Given the description of an element on the screen output the (x, y) to click on. 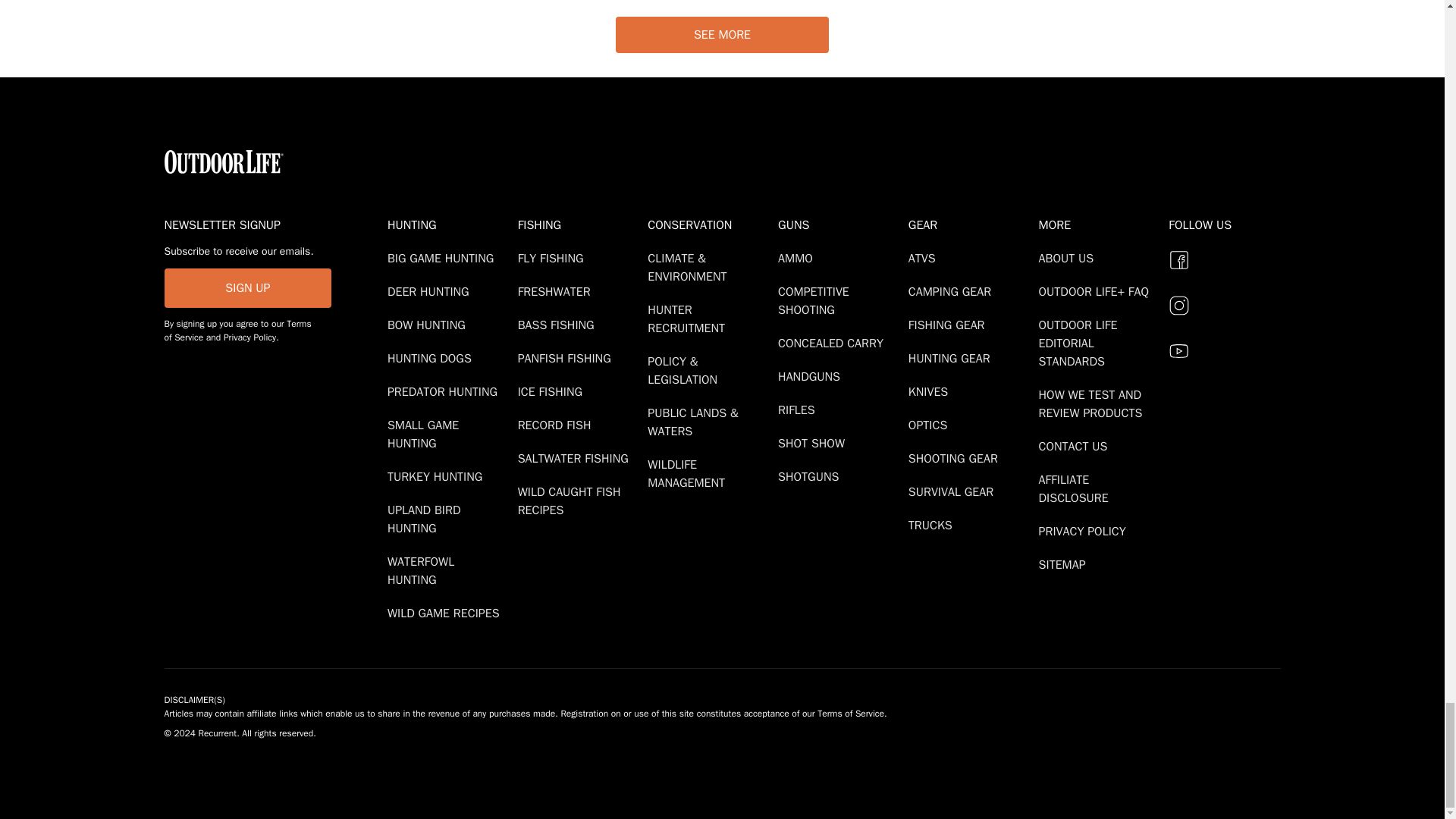
Hunting (449, 225)
Fishing (580, 225)
Conservation (709, 225)
Fly Fishing (553, 258)
Deer Hunting (431, 291)
Big Game Hunting (443, 258)
